Given the description of an element on the screen output the (x, y) to click on. 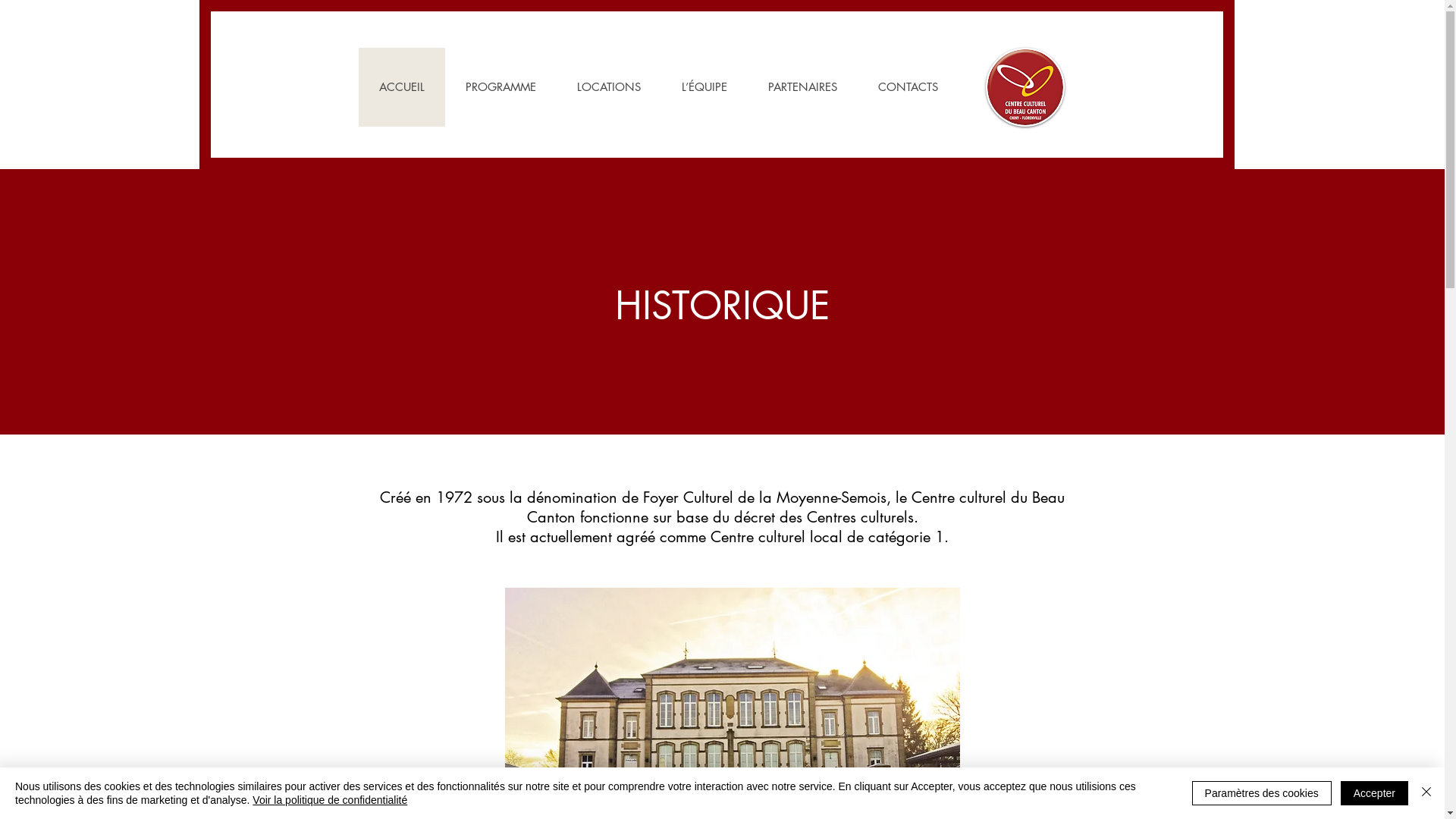
PARTENAIRES Element type: text (802, 86)
Accepter Element type: text (1374, 793)
ACCUEIL Element type: text (400, 86)
CONTACTS Element type: text (906, 86)
PROGRAMME Element type: text (499, 86)
LOCATIONS Element type: text (608, 86)
